Given the description of an element on the screen output the (x, y) to click on. 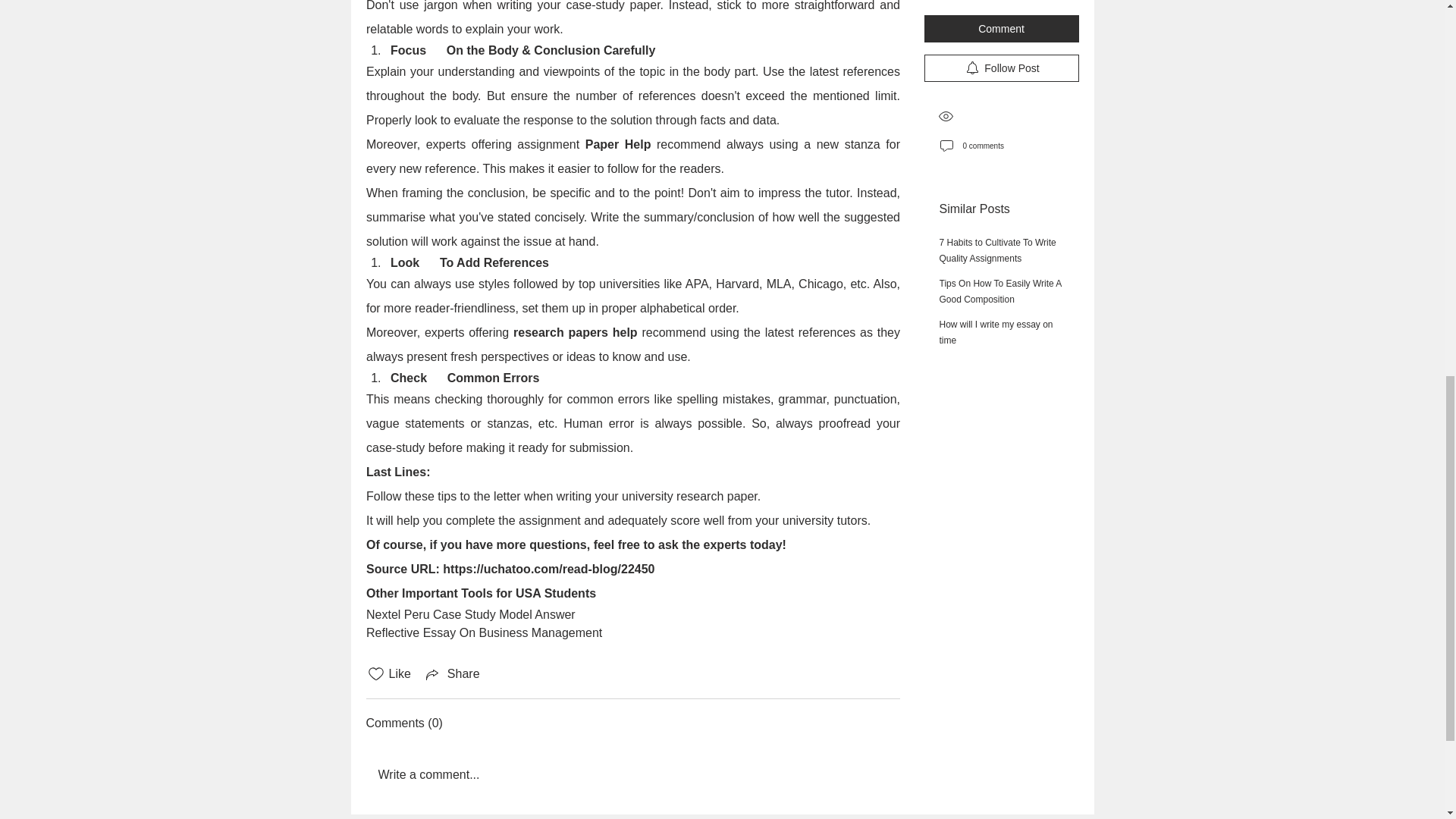
Nextel Peru Case Study Model Answer (470, 614)
Share (451, 674)
Reflective Essay On Business Management (483, 632)
Write a comment... (632, 774)
research papers help  (577, 332)
Paper Help (617, 144)
